Given the description of an element on the screen output the (x, y) to click on. 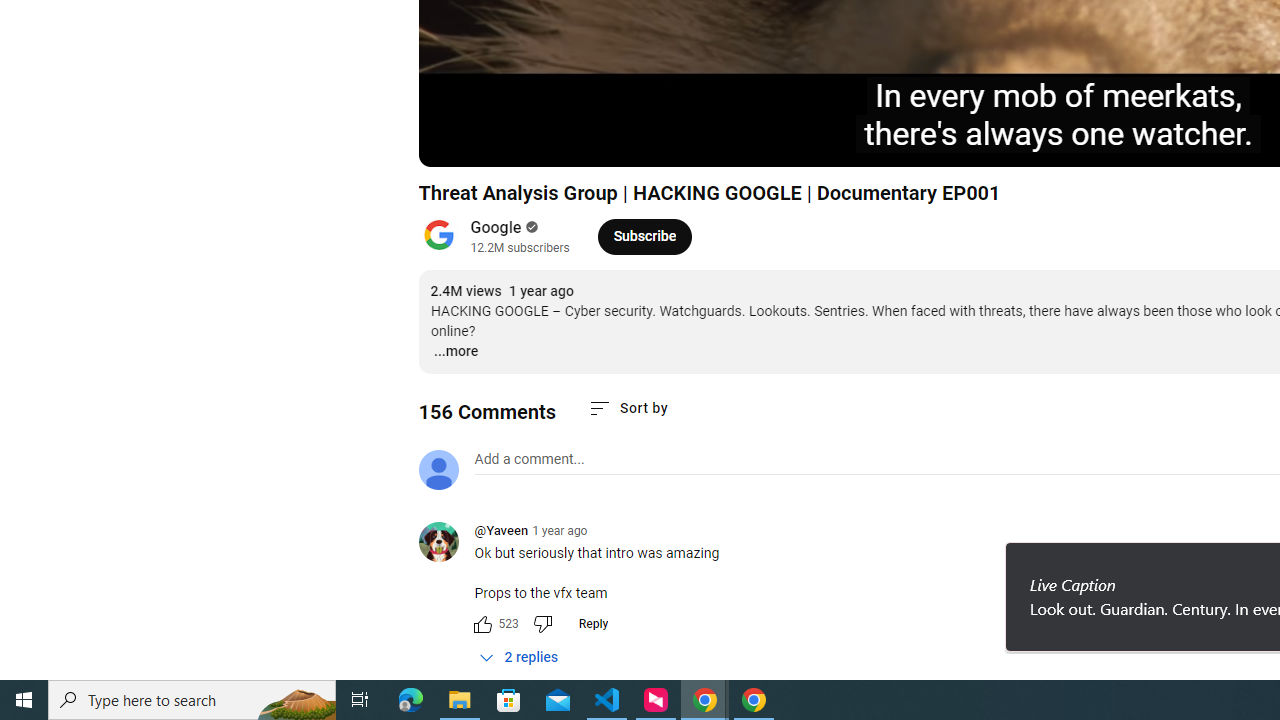
2 replies (518, 658)
Next (SHIFT+n) (500, 142)
1 year ago (559, 531)
Mute (m) (548, 142)
